Given the description of an element on the screen output the (x, y) to click on. 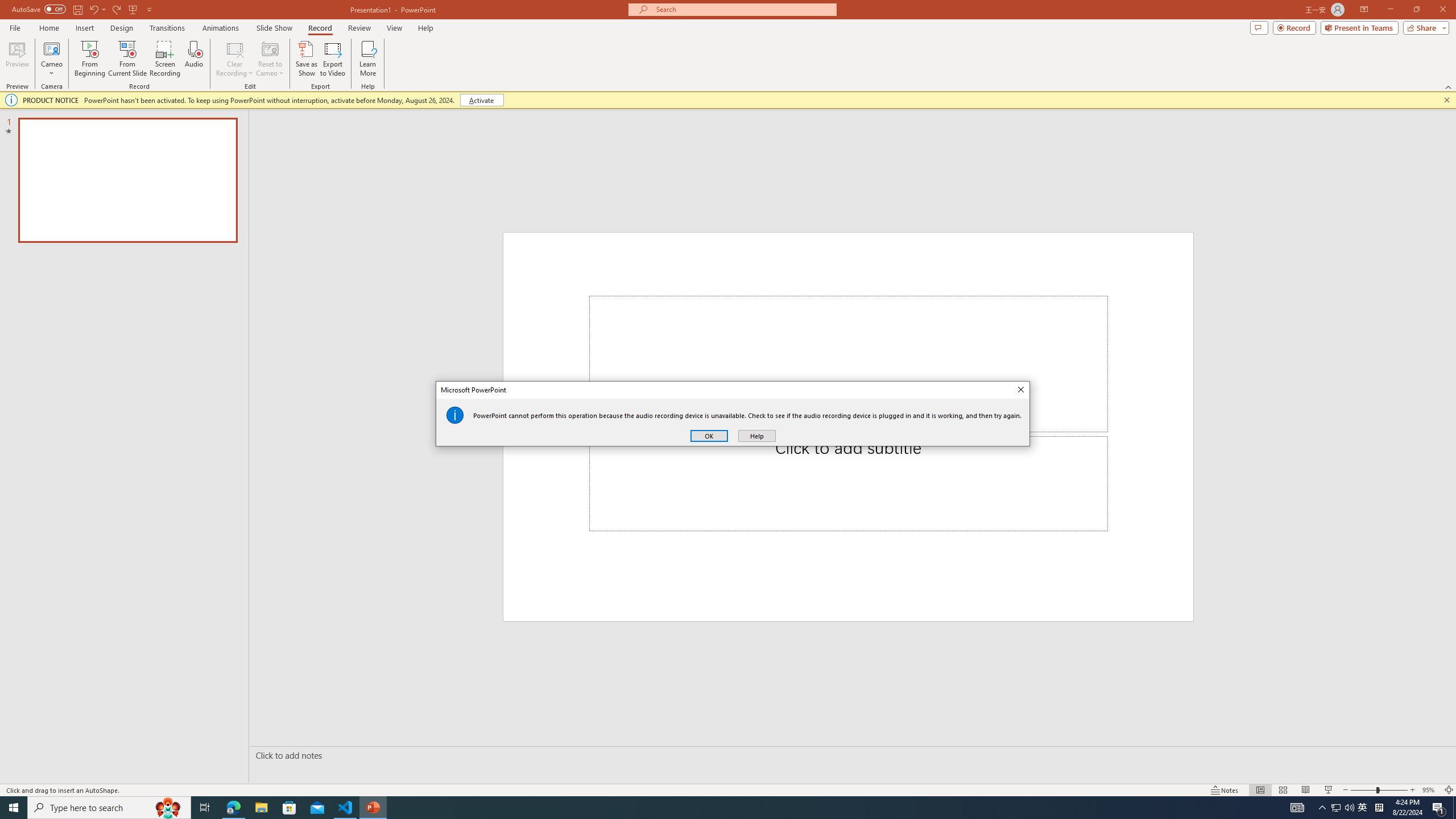
Class: Static (454, 415)
